Given the description of an element on the screen output the (x, y) to click on. 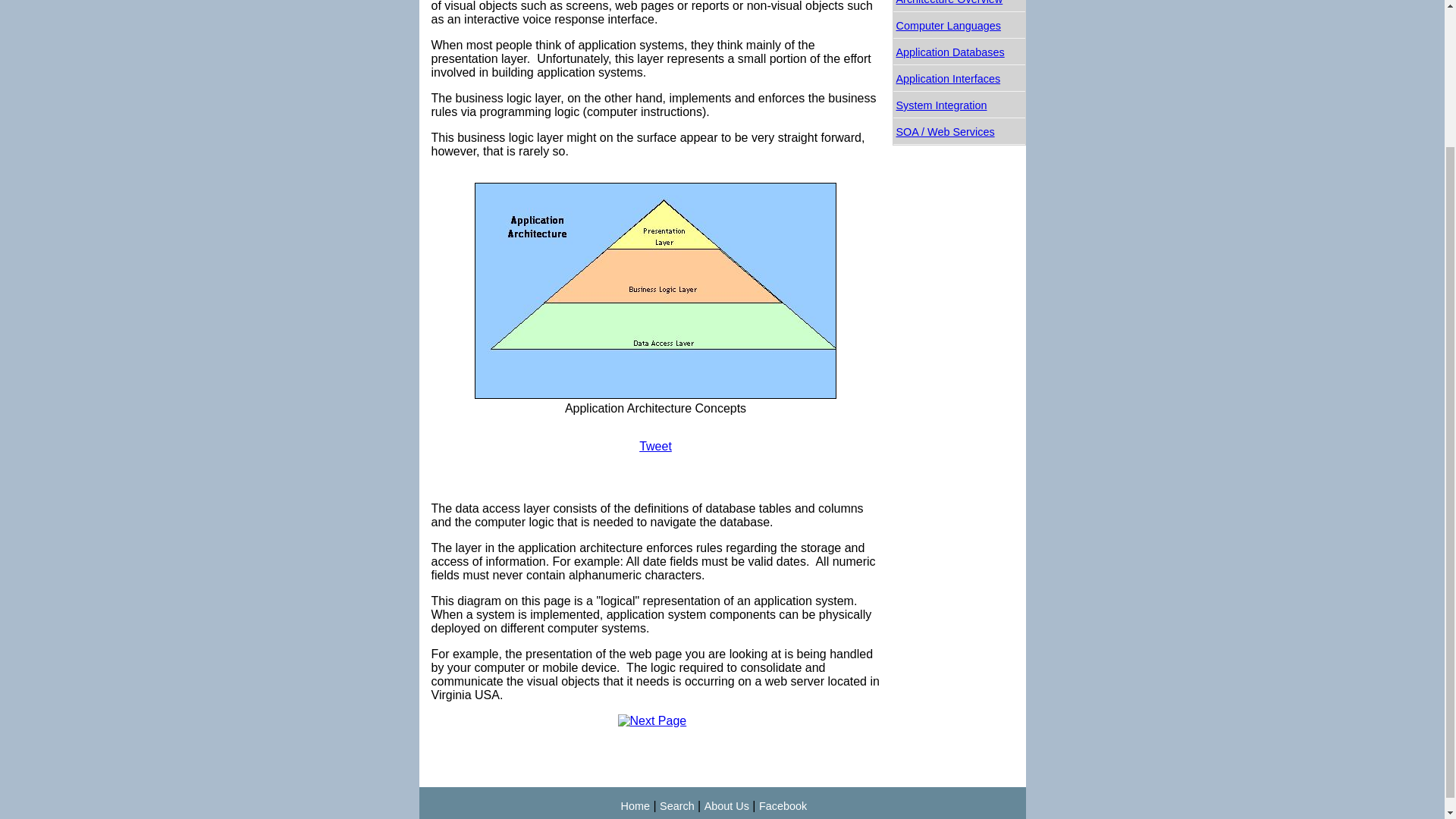
Search (676, 806)
Tweet (655, 445)
Application Interfaces (959, 78)
Architecture Overview (959, 6)
Computer Languages (959, 25)
Application Databases (959, 52)
Home (635, 806)
About Us (726, 806)
System Integration (959, 105)
Facebook (782, 806)
